Given the description of an element on the screen output the (x, y) to click on. 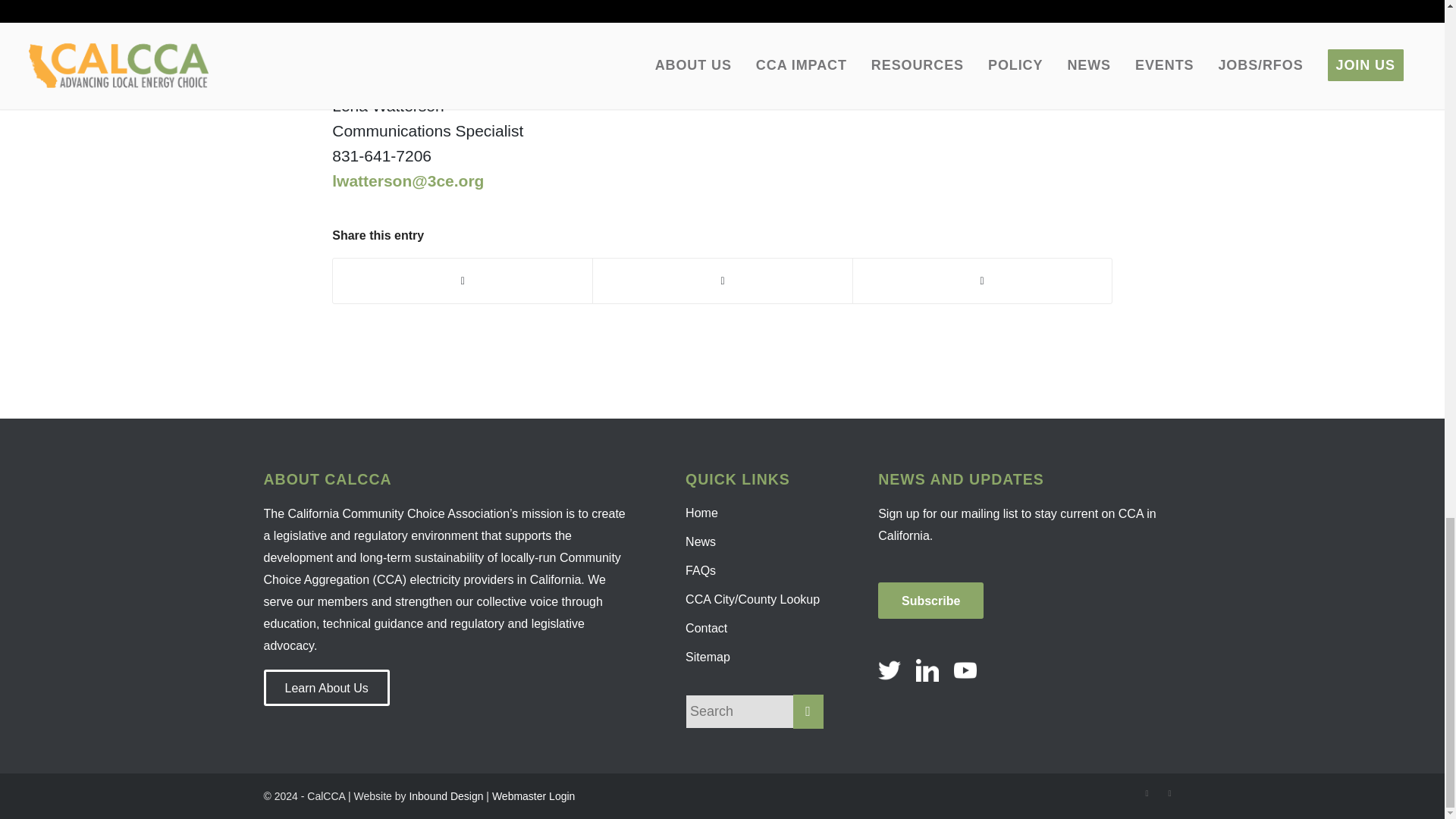
News (754, 541)
LinkedIn (1169, 793)
Learn About Us (326, 687)
Home (754, 512)
FAQs (754, 570)
Twitter (1146, 793)
Twitter (387, 6)
